Given the description of an element on the screen output the (x, y) to click on. 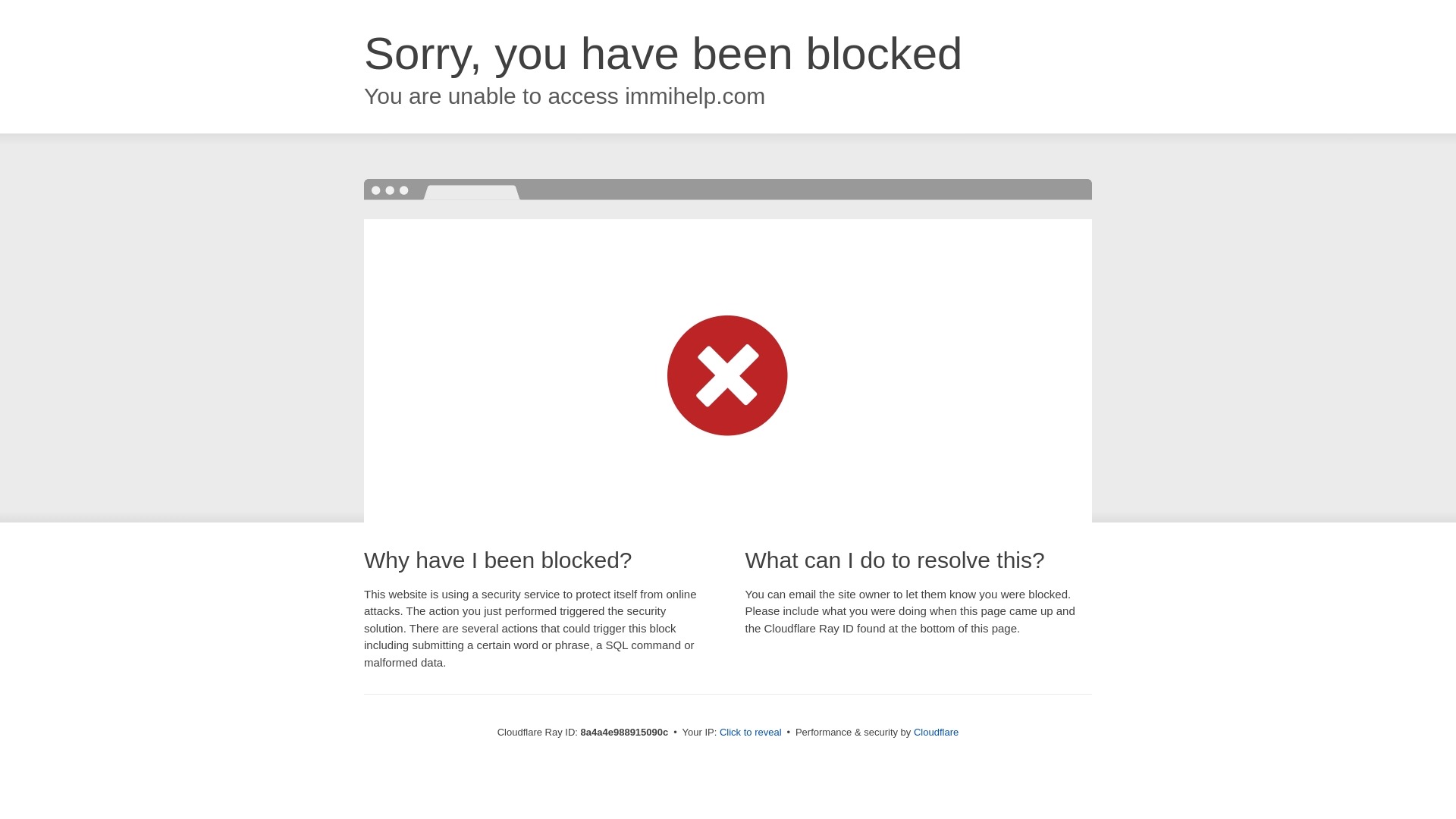
Cloudflare (936, 731)
Click to reveal (750, 732)
